Given the description of an element on the screen output the (x, y) to click on. 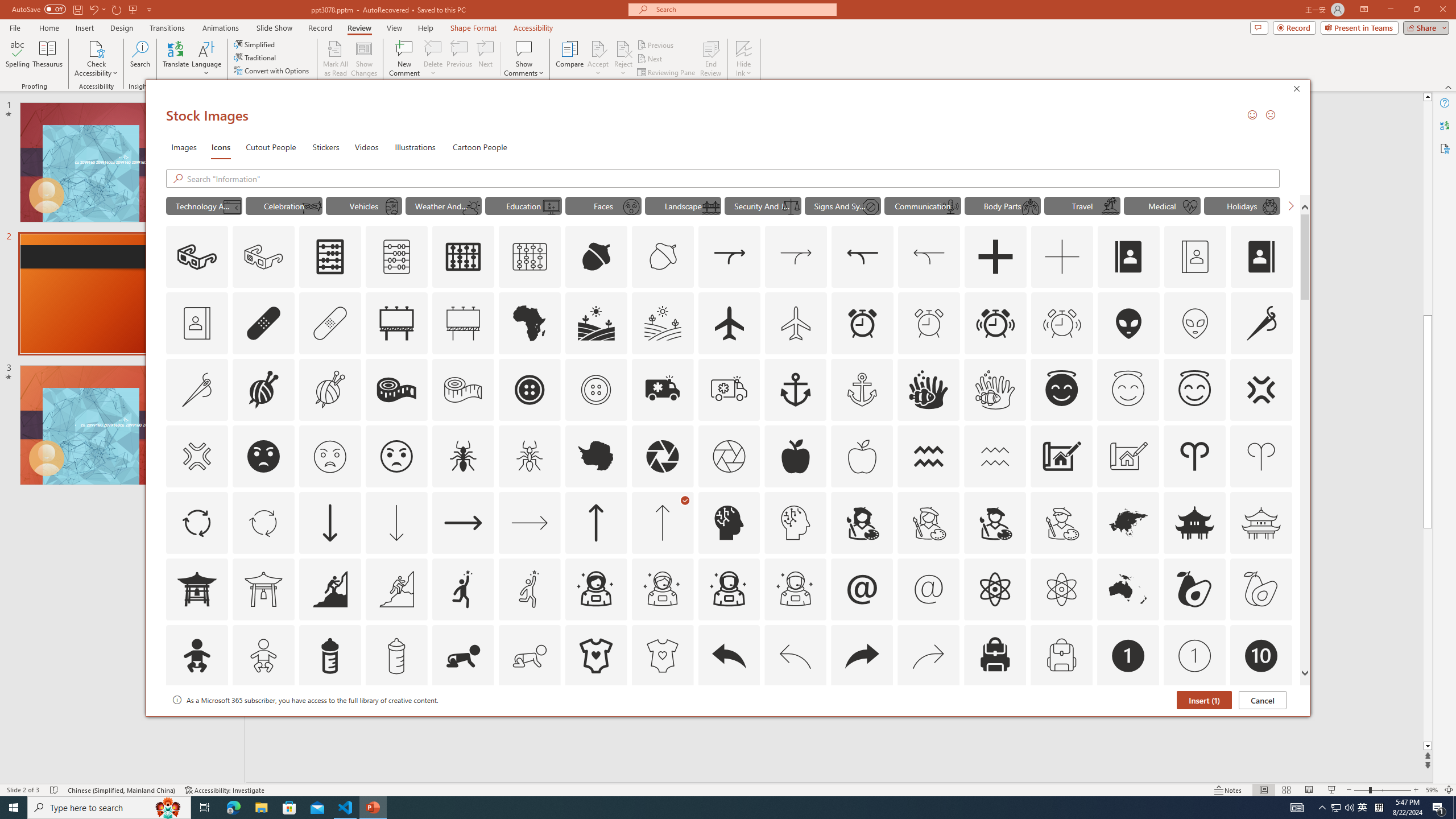
AutomationID: Icons_AngelFace (1061, 389)
AutomationID: Icons_Badge10 (1260, 655)
AutomationID: Icons_Aspiration1_M (529, 588)
"Security And Justice" Icons. (762, 205)
Illustrations (415, 146)
